Given the description of an element on the screen output the (x, y) to click on. 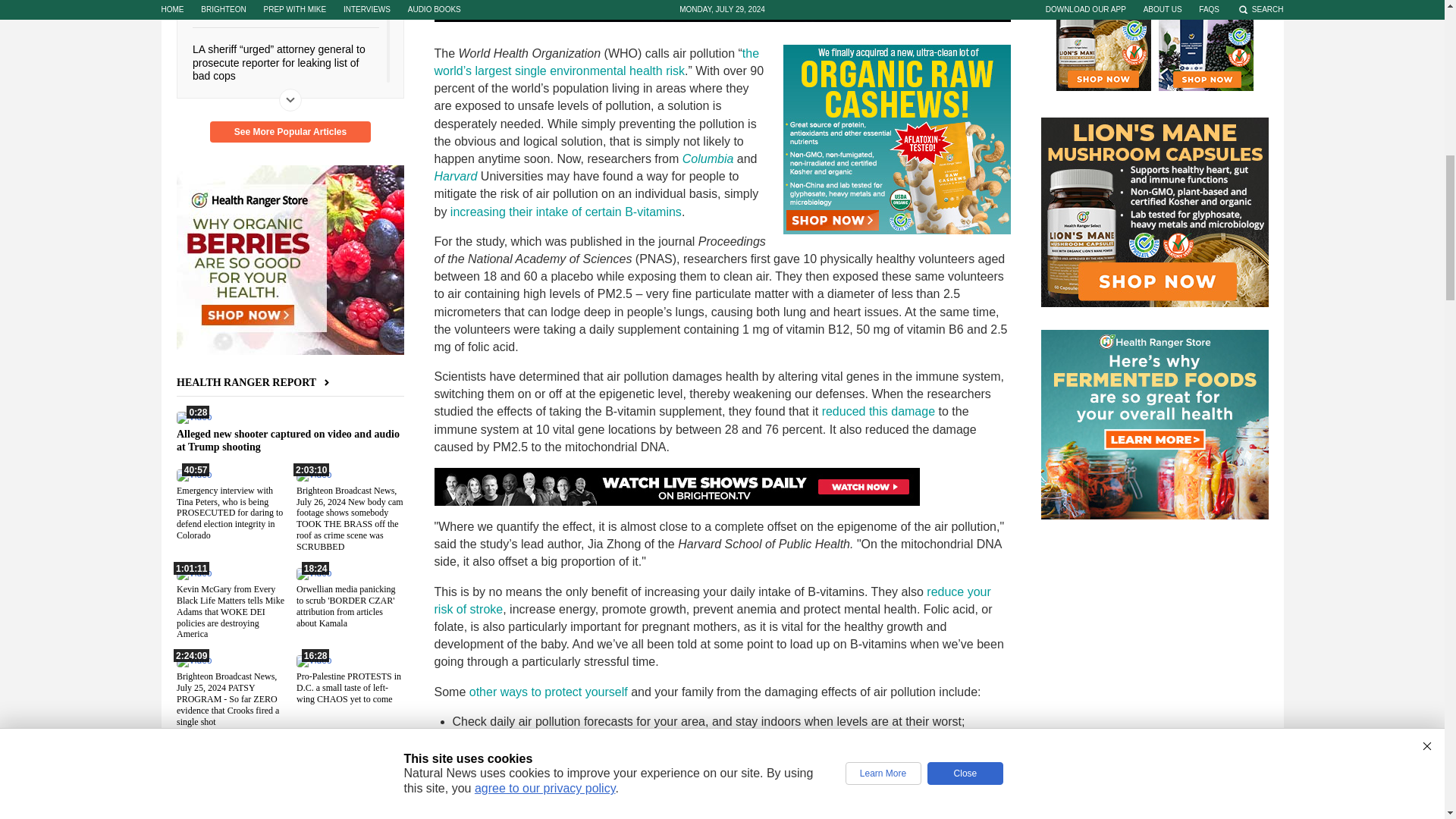
Scroll Down (290, 99)
